Given the description of an element on the screen output the (x, y) to click on. 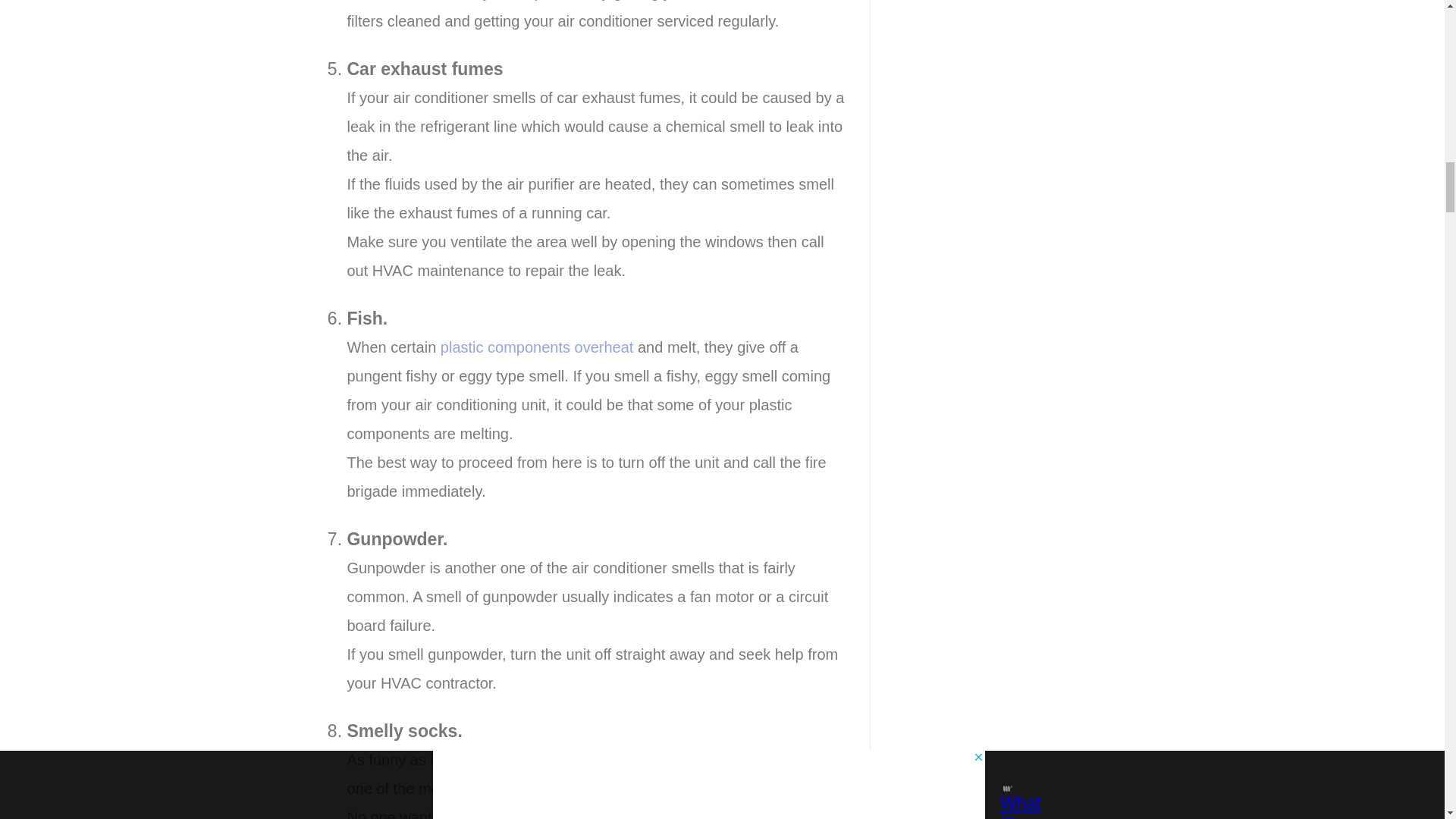
plastic components overheat (539, 347)
